Given the description of an element on the screen output the (x, y) to click on. 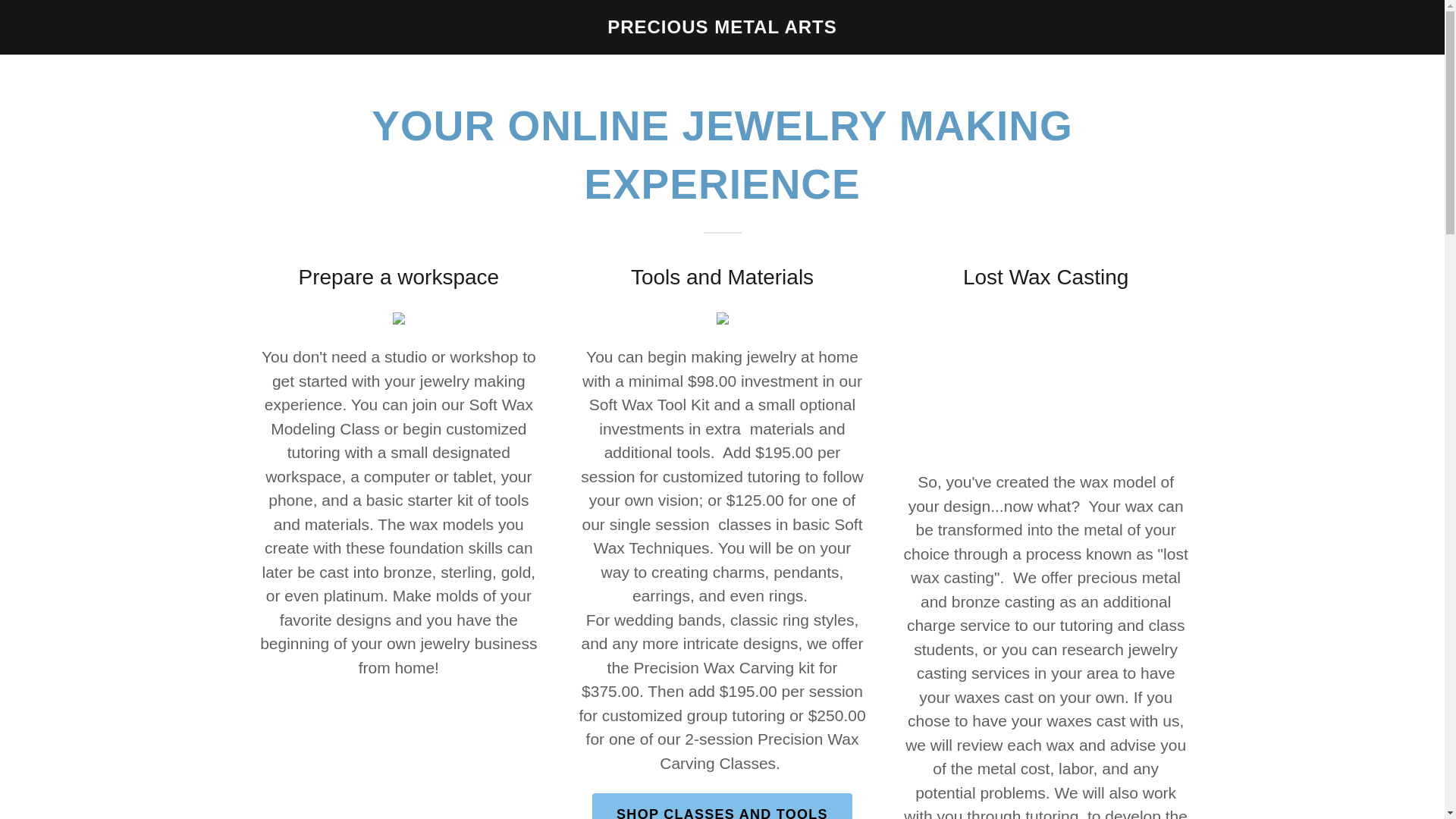
PRECIOUS METAL ARTS (721, 27)
Precious Metal Arts (721, 27)
